Given the description of an element on the screen output the (x, y) to click on. 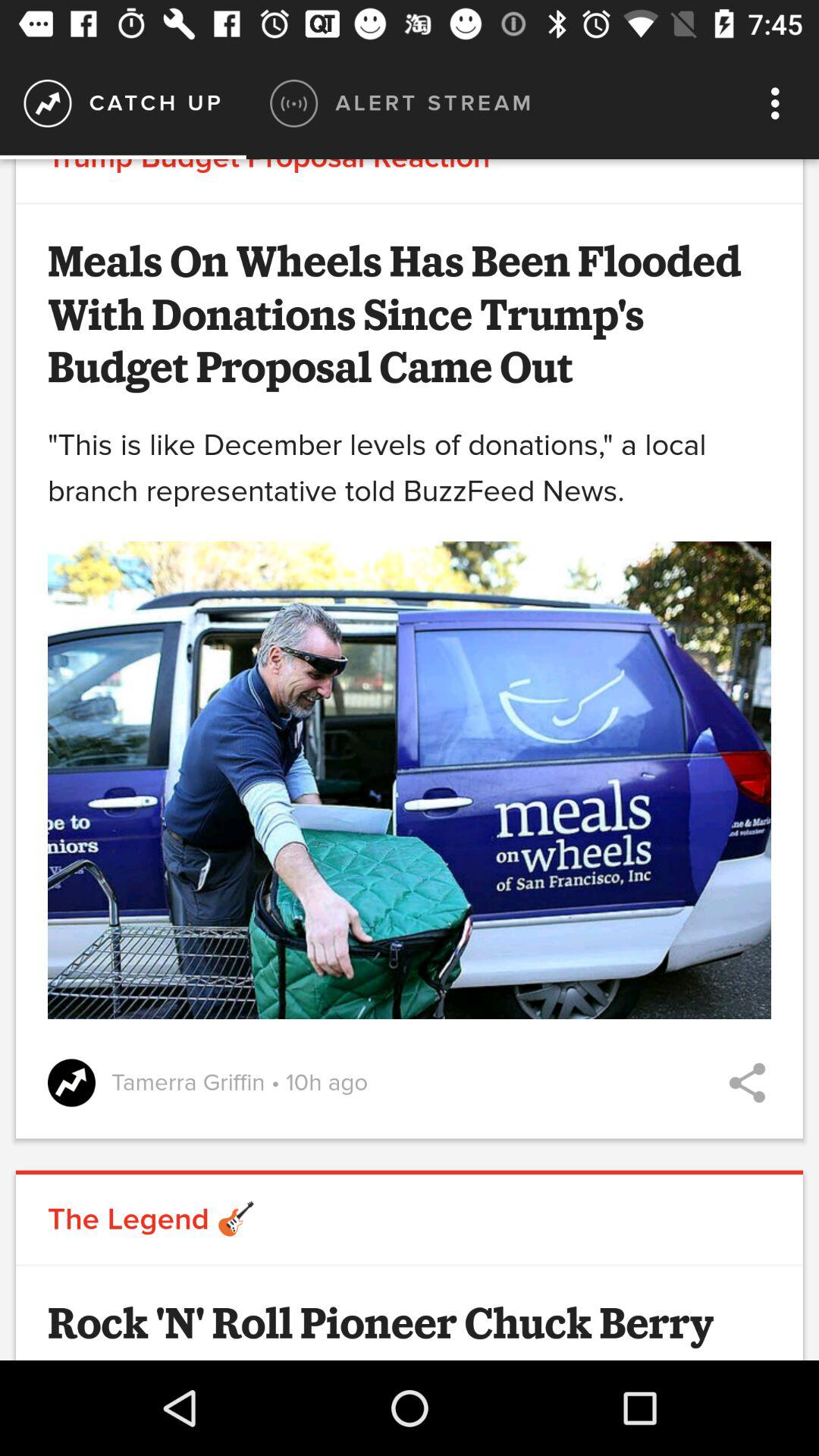
press the icon next to alert stream icon (779, 103)
